Given the description of an element on the screen output the (x, y) to click on. 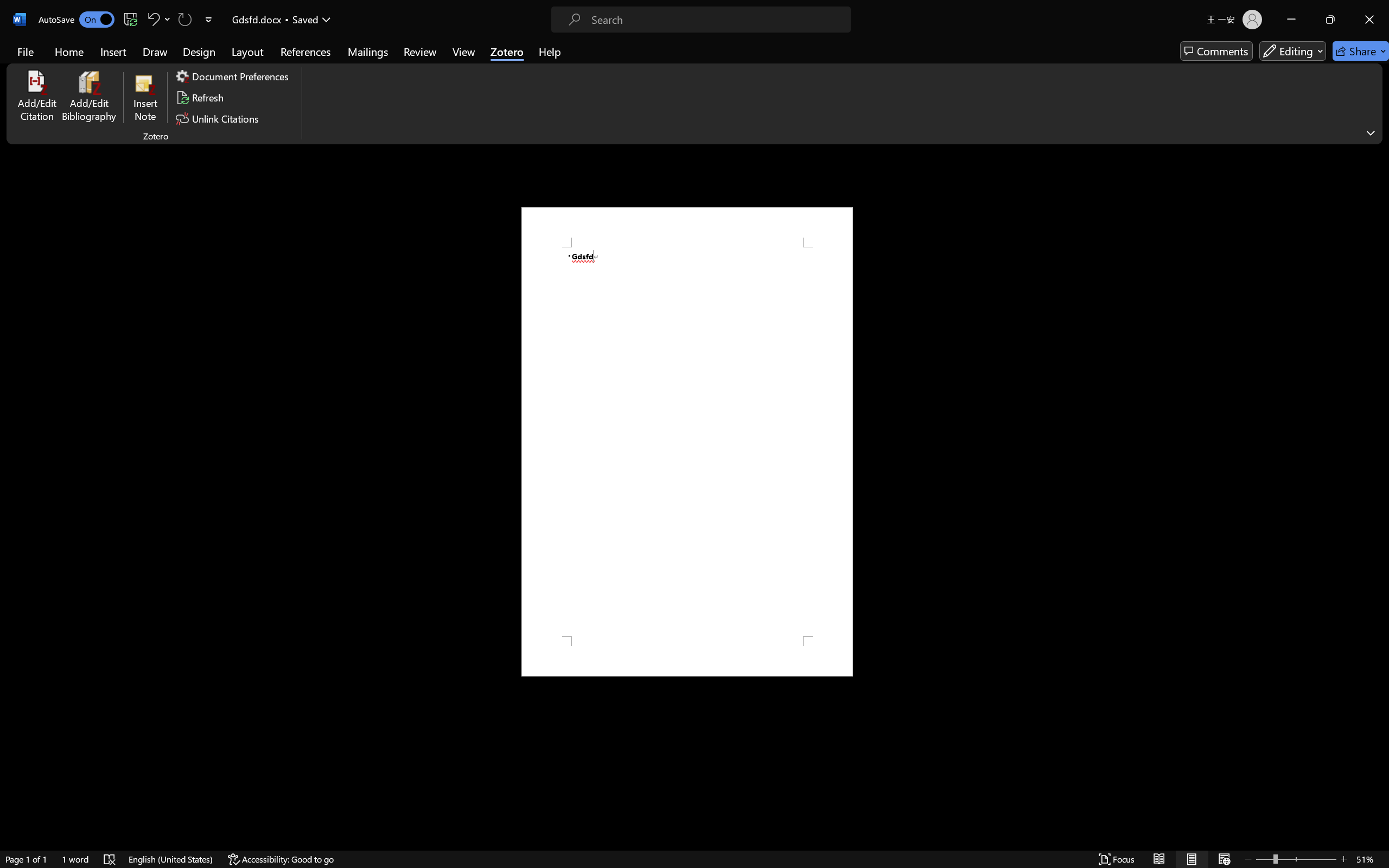
Page 1 content (686, 441)
